Given the description of an element on the screen output the (x, y) to click on. 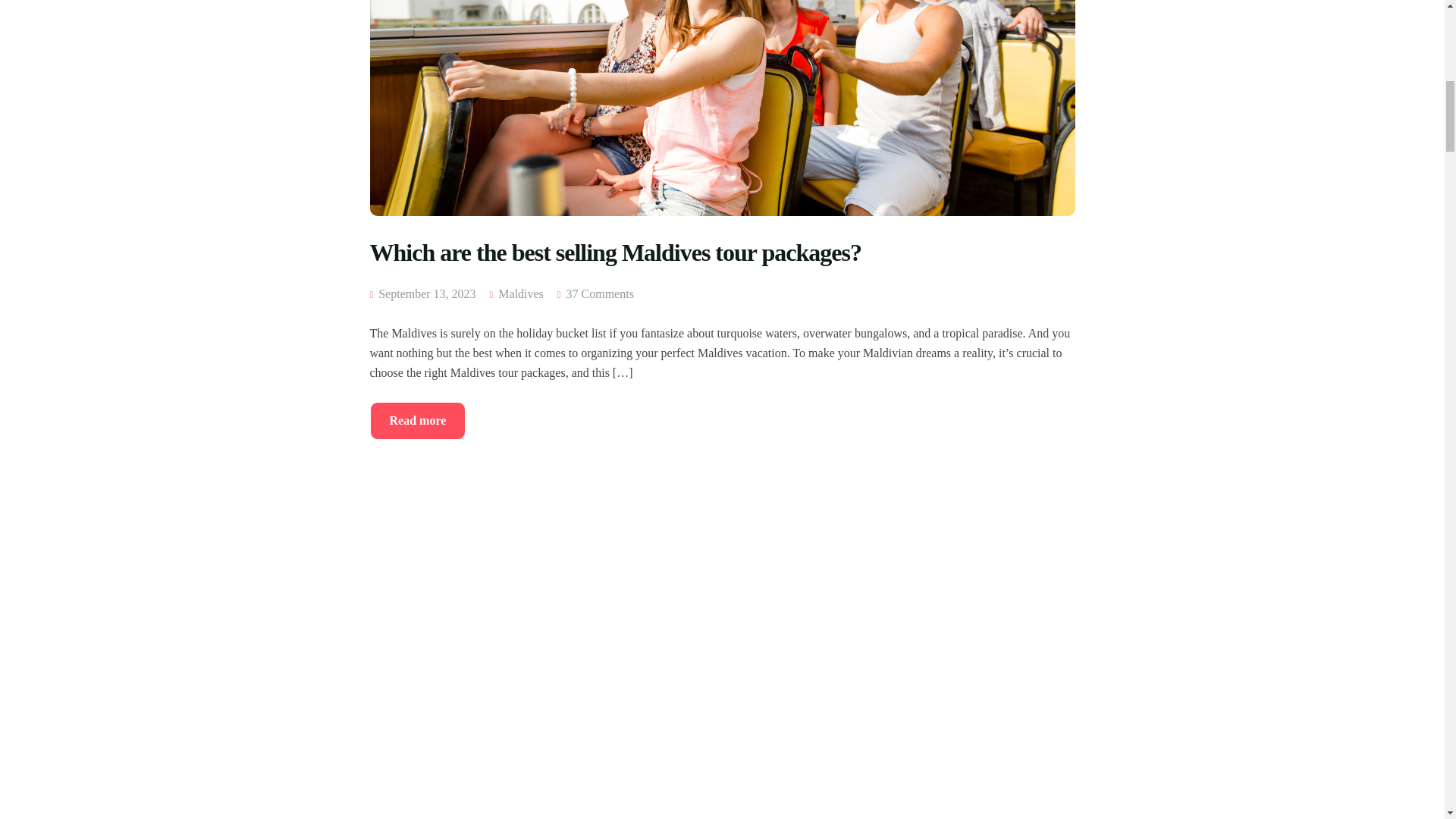
Maldives (520, 293)
Read more (417, 420)
37 Comments (599, 293)
Which are the best selling Maldives tour packages? (722, 268)
Which are the best selling Maldives tour packages? (722, 268)
